Given the description of an element on the screen output the (x, y) to click on. 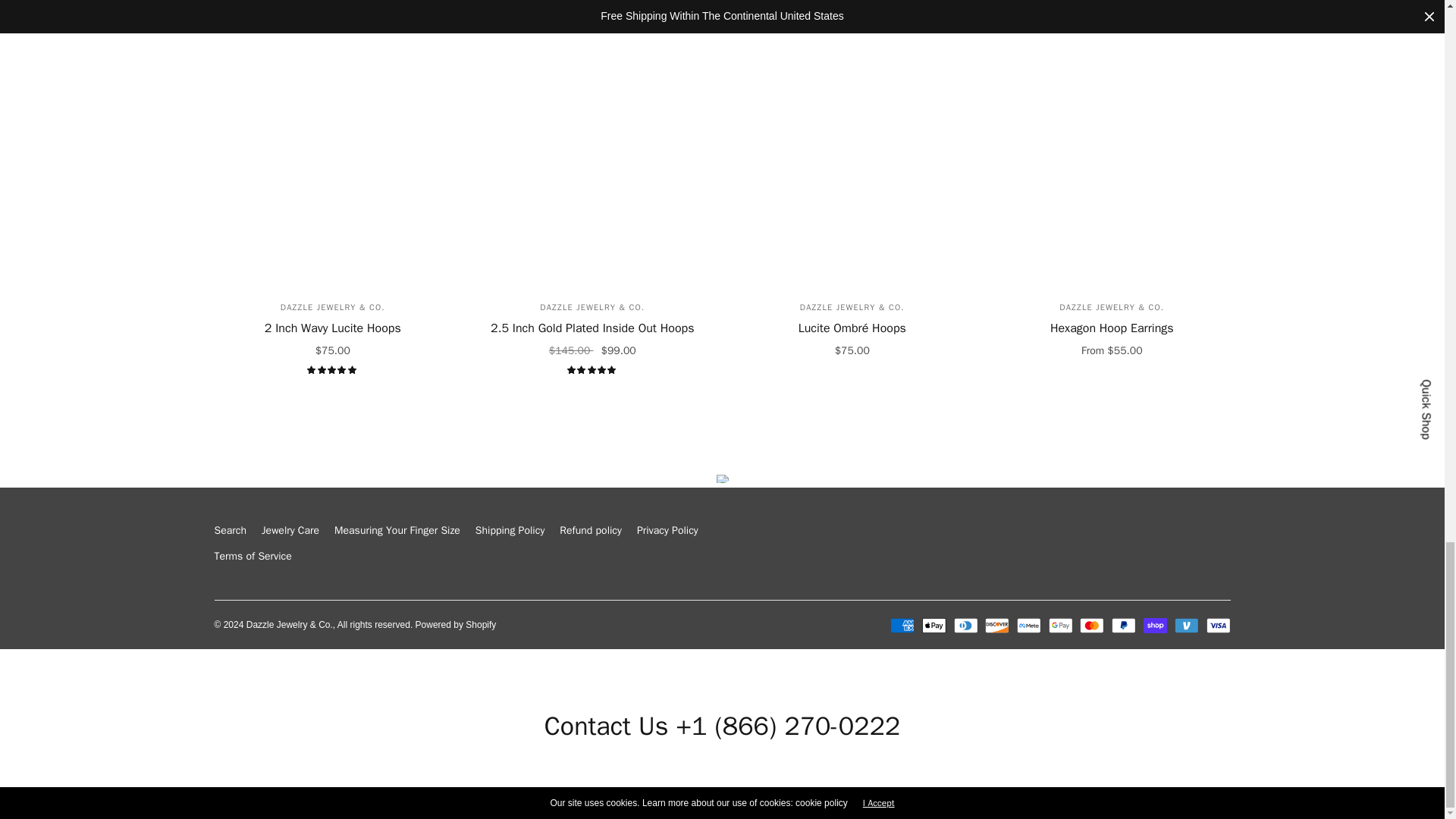
Google Pay (1060, 625)
Meta Pay (1028, 625)
PayPal (1123, 625)
Diners Club (965, 625)
Apple Pay (933, 625)
Mastercard (1091, 625)
Discover (997, 625)
Visa (1218, 625)
American Express (901, 625)
Shop Pay (1154, 625)
Venmo (1186, 625)
